Given the description of an element on the screen output the (x, y) to click on. 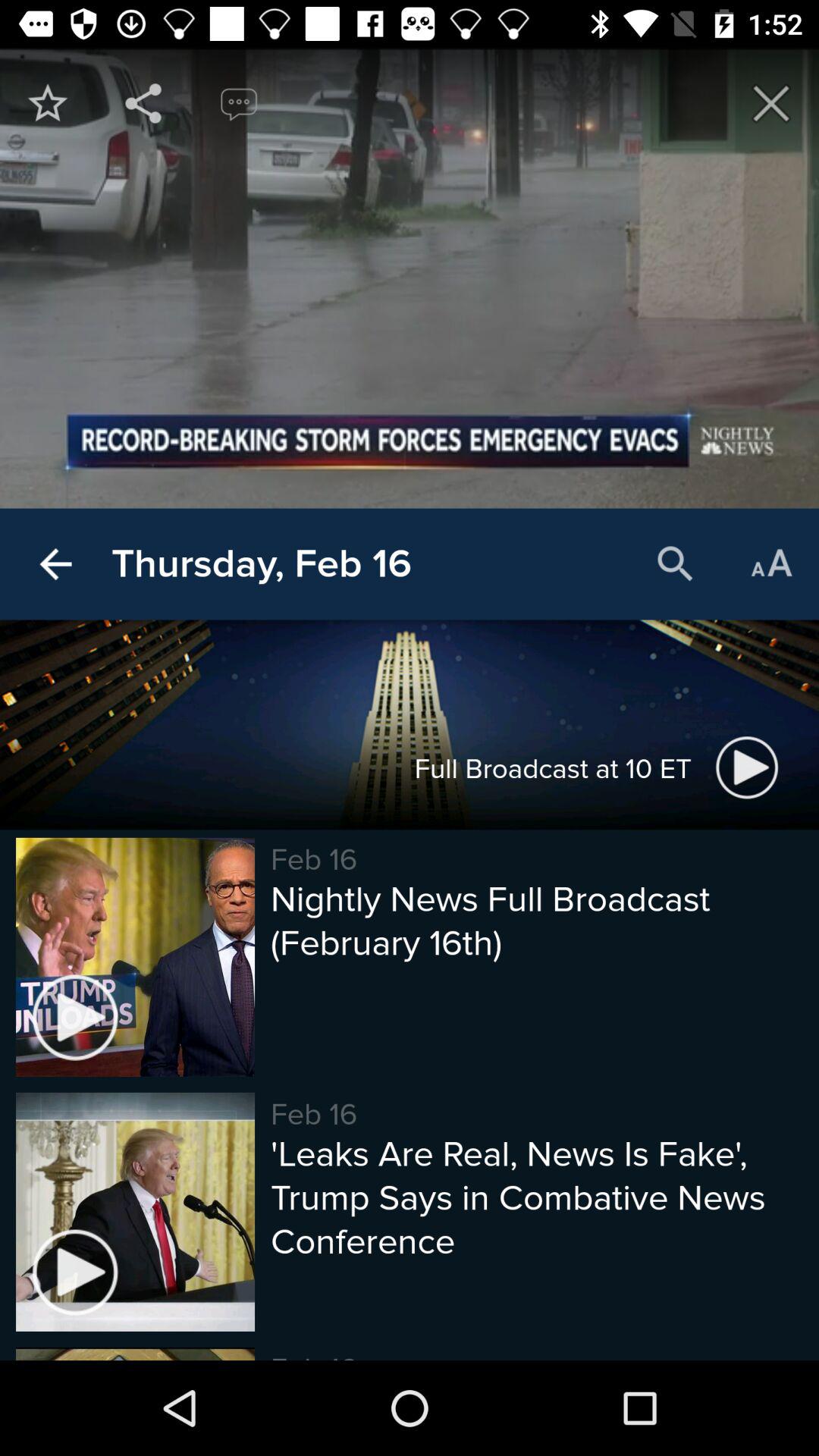
close the news (771, 103)
